Given the description of an element on the screen output the (x, y) to click on. 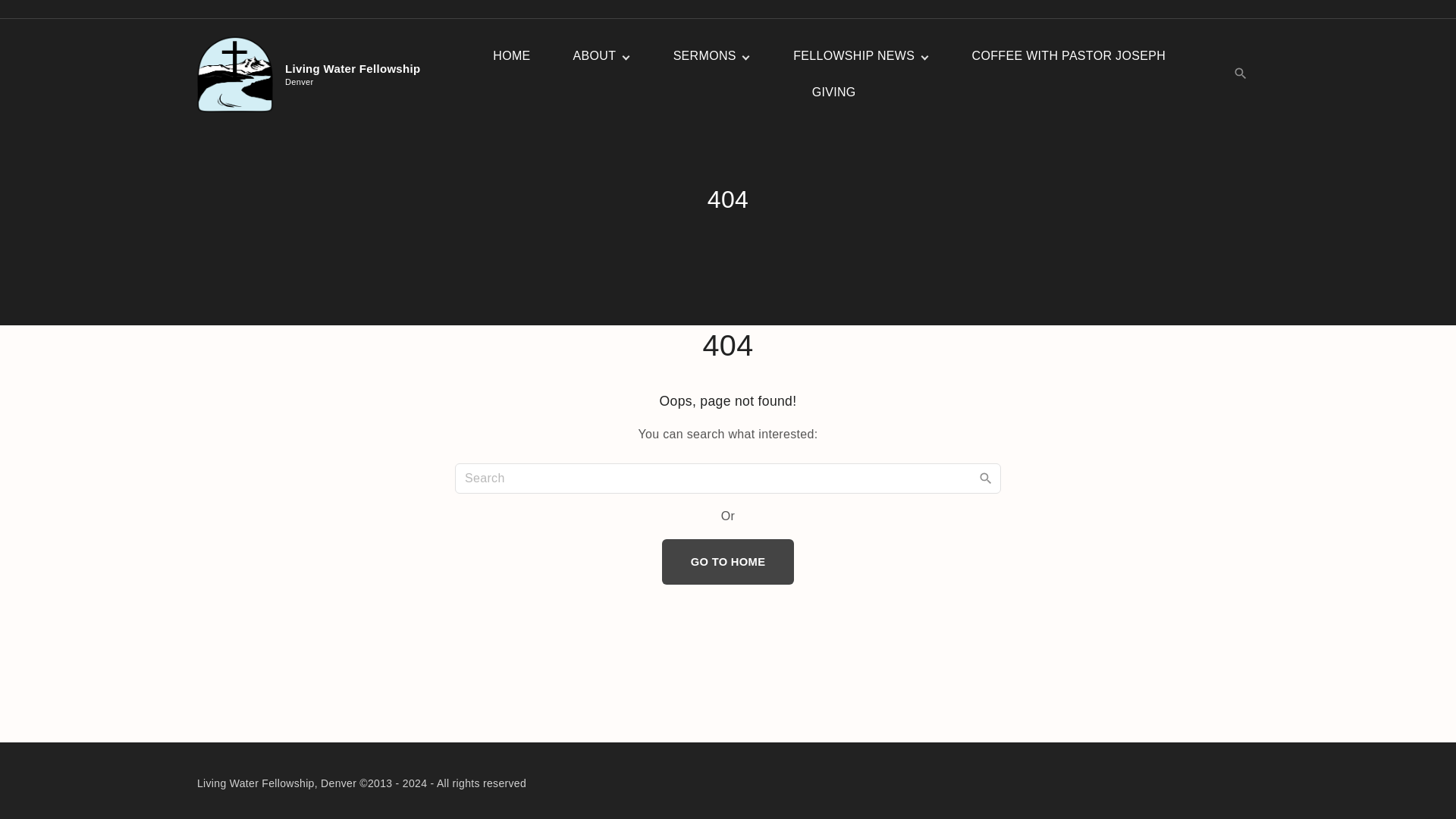
FELLOWSHIP NEWS (854, 55)
COFFEE WITH PASTOR JOSEPH (1069, 55)
SEARCH (986, 477)
ABOUT (595, 55)
SERMONS (705, 55)
HOME (511, 55)
GIVING (834, 92)
GO TO HOME (314, 74)
